Given the description of an element on the screen output the (x, y) to click on. 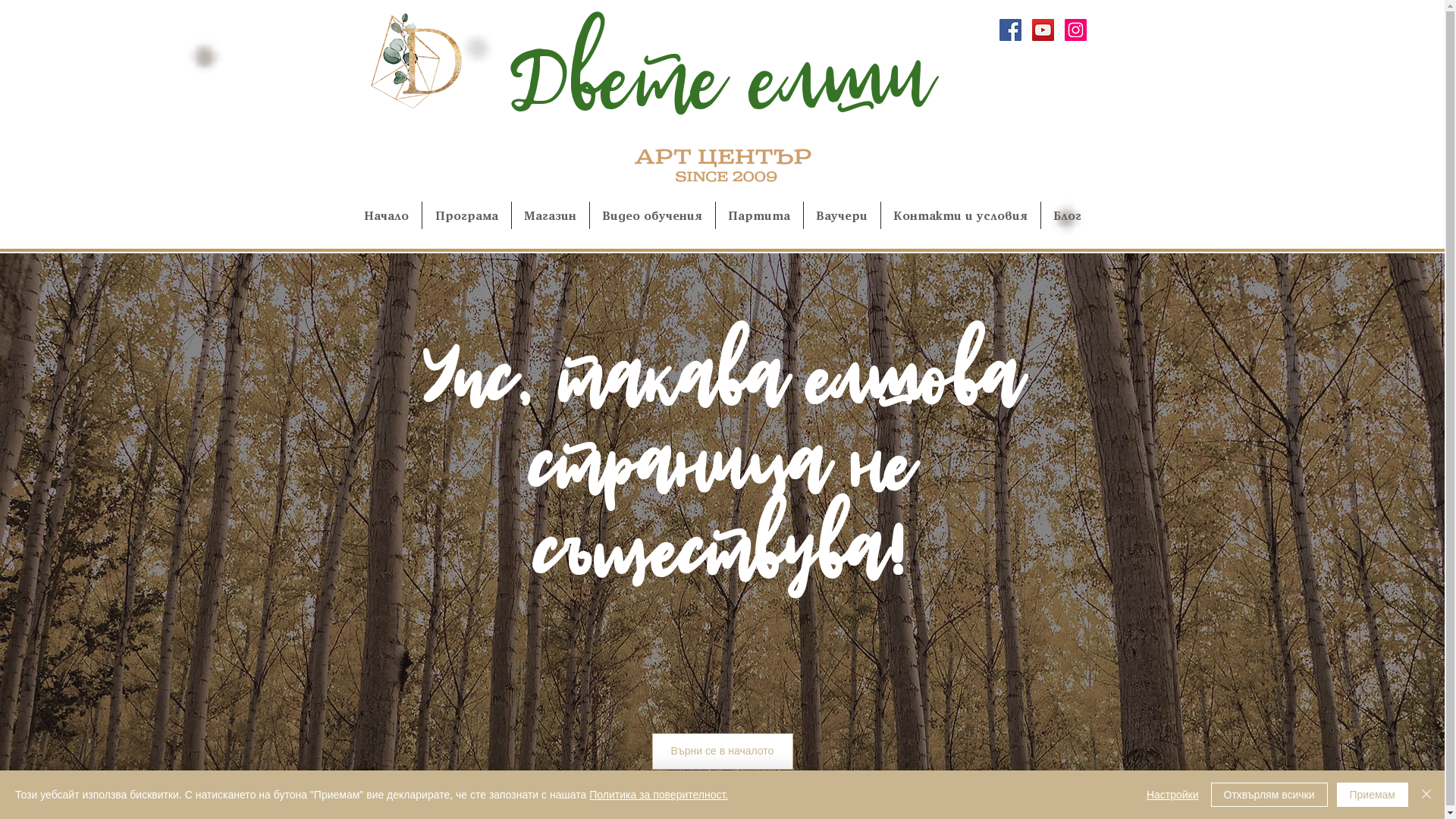
Wix.com Element type: text (866, 798)
